Given the description of an element on the screen output the (x, y) to click on. 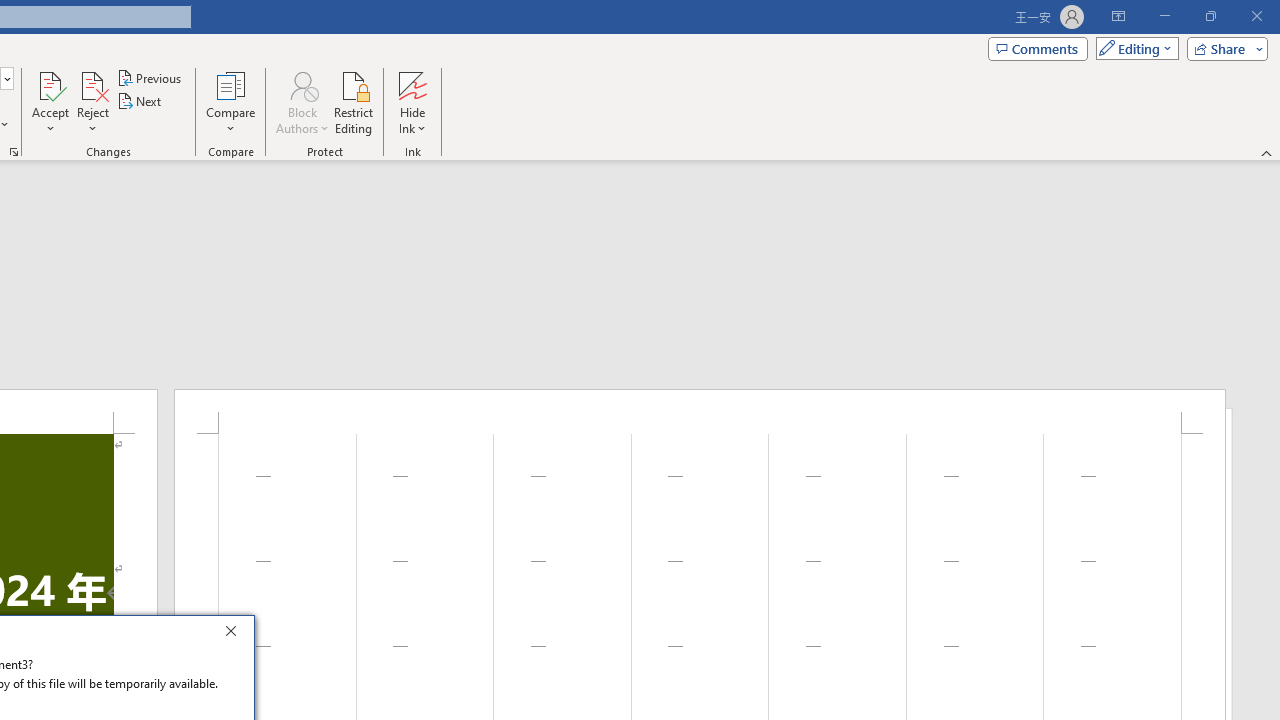
Compare (230, 102)
Share (1223, 48)
Header -Section 1- (700, 411)
Accept (50, 102)
Hide Ink (412, 84)
Accept and Move to Next (50, 84)
Comments (1038, 48)
Next (140, 101)
Previous (150, 78)
Hide Ink (412, 102)
Restrict Editing (353, 102)
